Given the description of an element on the screen output the (x, y) to click on. 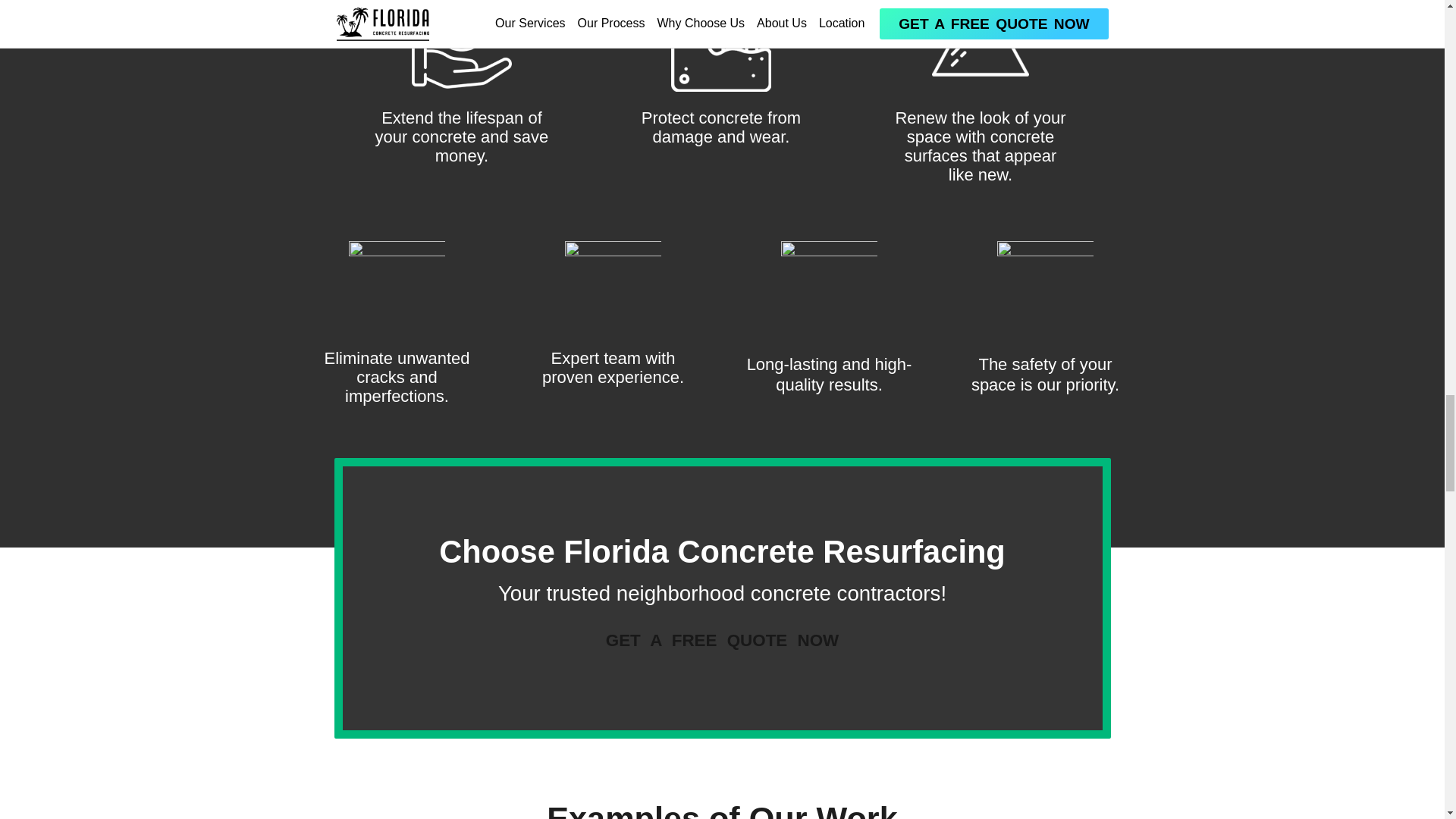
GET A FREE QUOTE NOW (722, 639)
